Given the description of an element on the screen output the (x, y) to click on. 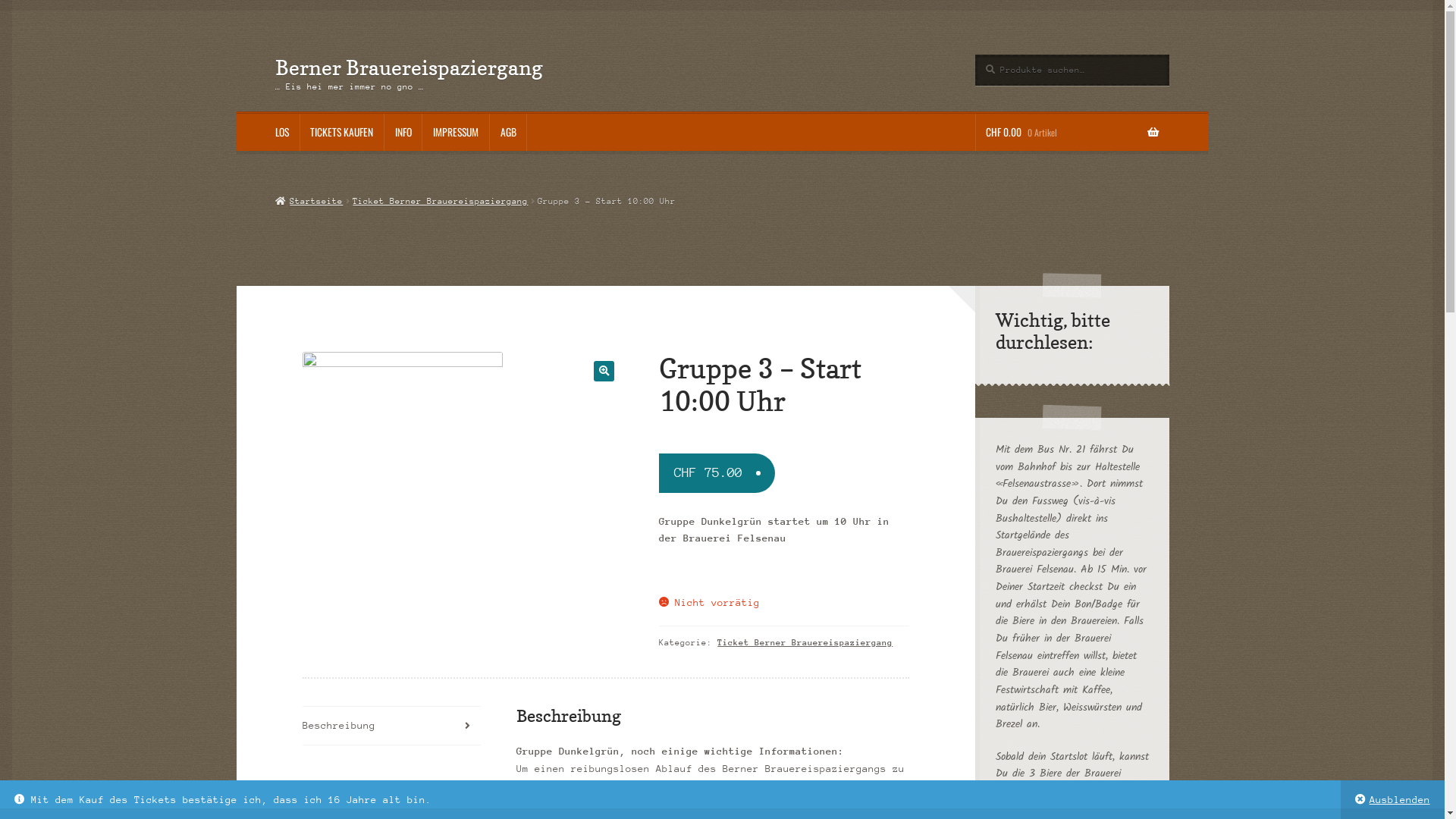
Beschreibung Element type: text (391, 725)
CHF 0.00 0 Artikel Element type: text (1072, 132)
Zur Navigation springen Element type: text (274, 53)
Ticket Berner Brauereispaziergang Element type: text (439, 201)
b3 Element type: hover (402, 451)
TICKETS KAUFEN Element type: text (341, 132)
Ticket Berner Brauereispaziergang Element type: text (804, 642)
Suche Element type: text (974, 53)
Startseite Element type: text (308, 201)
LOS Element type: text (281, 132)
Berner Brauereispaziergang Element type: text (408, 66)
IMPRESSUM Element type: text (455, 132)
INFO Element type: text (402, 132)
AGB Element type: text (507, 132)
